Given the description of an element on the screen output the (x, y) to click on. 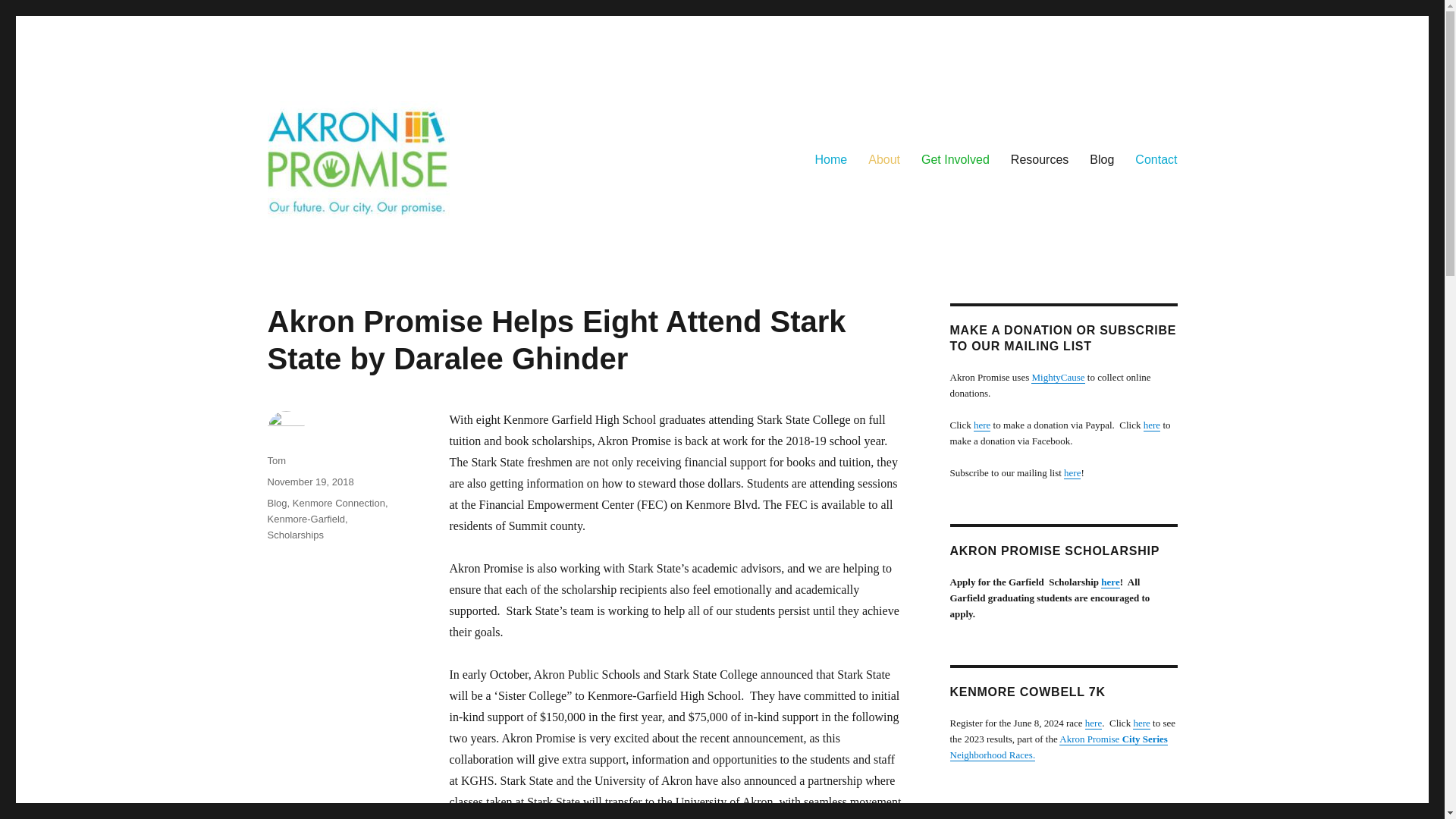
Get Involved (955, 160)
here (1141, 722)
Tom (275, 460)
Akron Promise City Series Neighborhood Races. (1058, 746)
Blog (1101, 160)
Akron Promise (341, 241)
About (884, 160)
here (1093, 722)
here (1072, 472)
Contact (1156, 160)
